Given the description of an element on the screen output the (x, y) to click on. 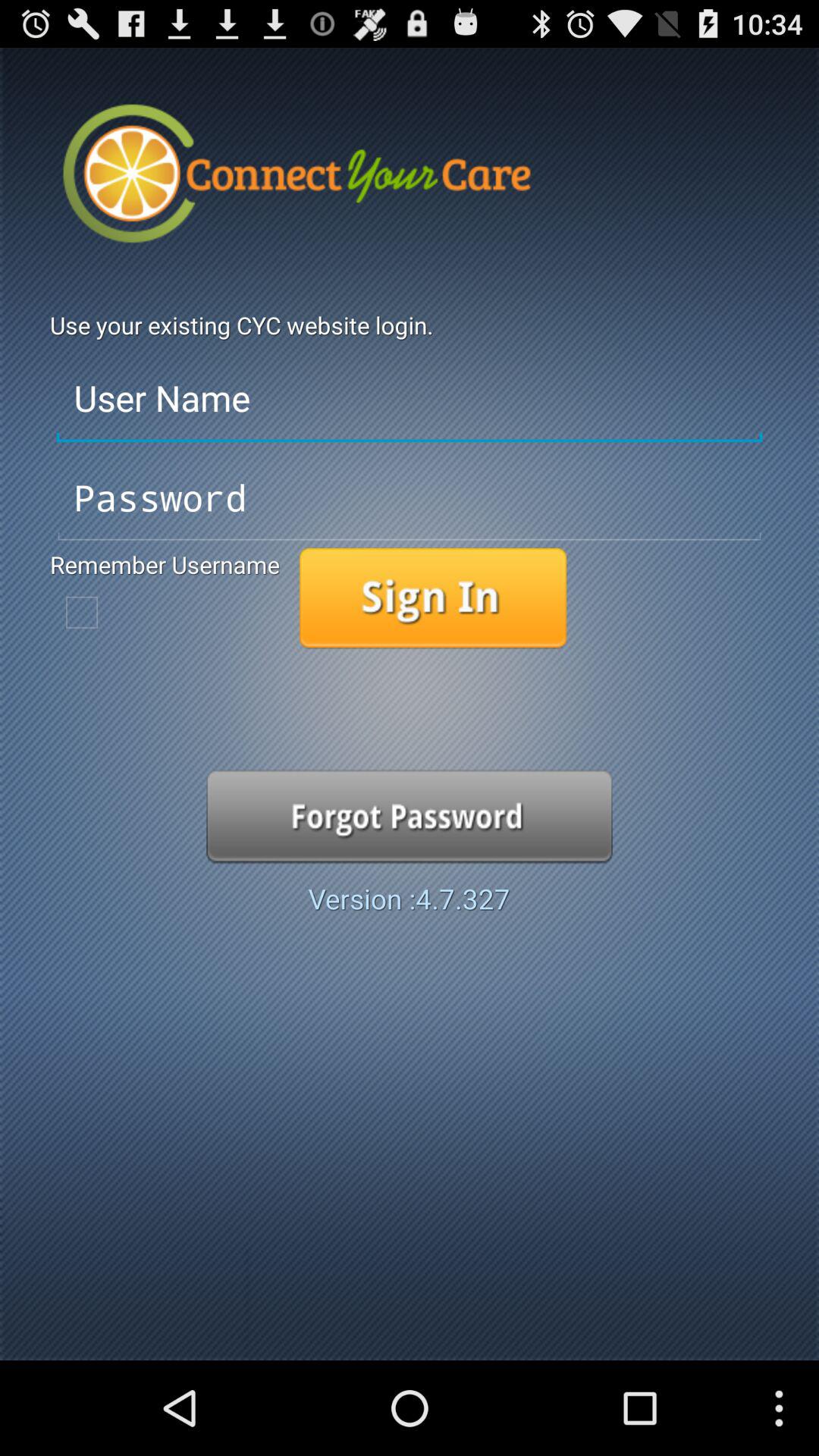
go to forgot password (409, 815)
